Given the description of an element on the screen output the (x, y) to click on. 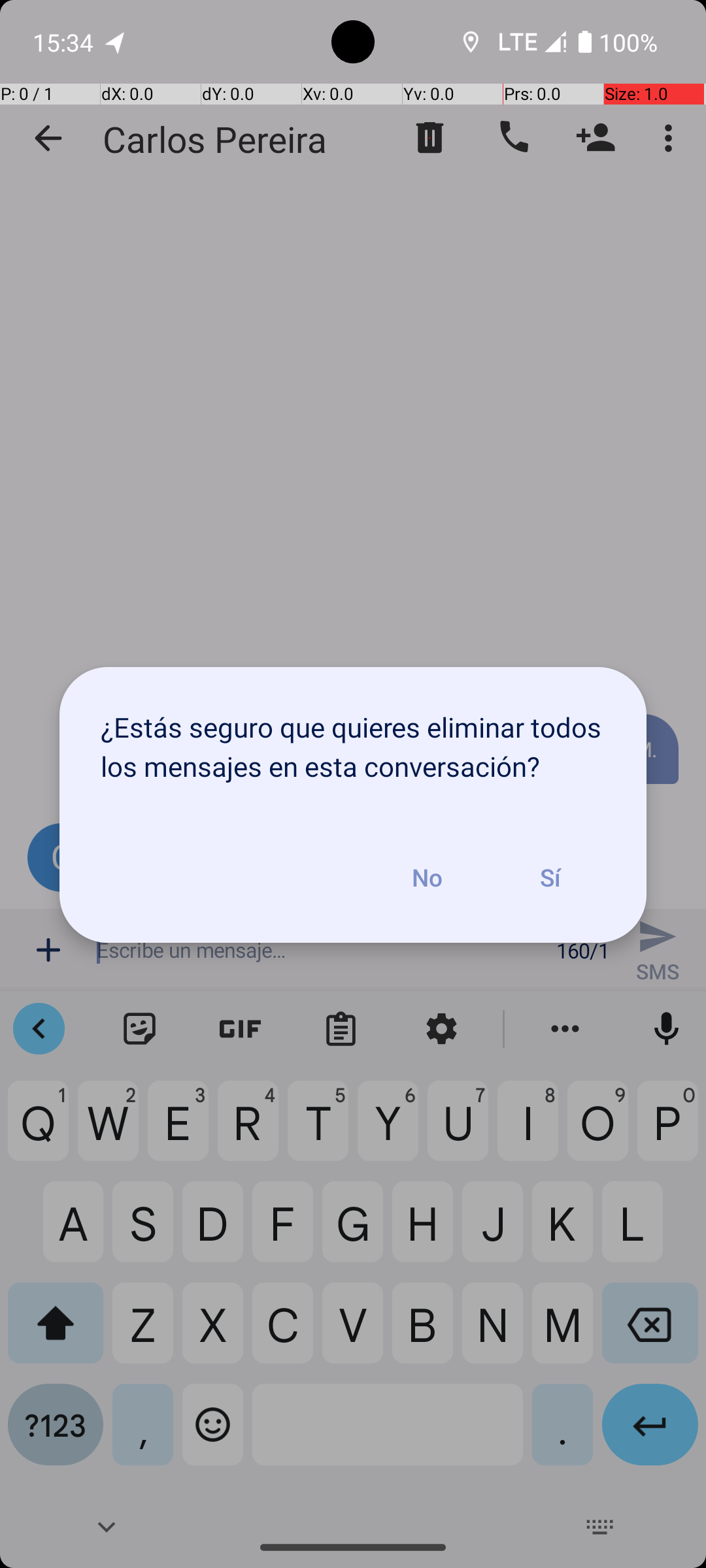
¿Estás seguro que quieres eliminar todos los mensajes en esta conversación? Element type: android.widget.TextView (352, 739)
Sí Element type: android.widget.Button (550, 877)
